Given the description of an element on the screen output the (x, y) to click on. 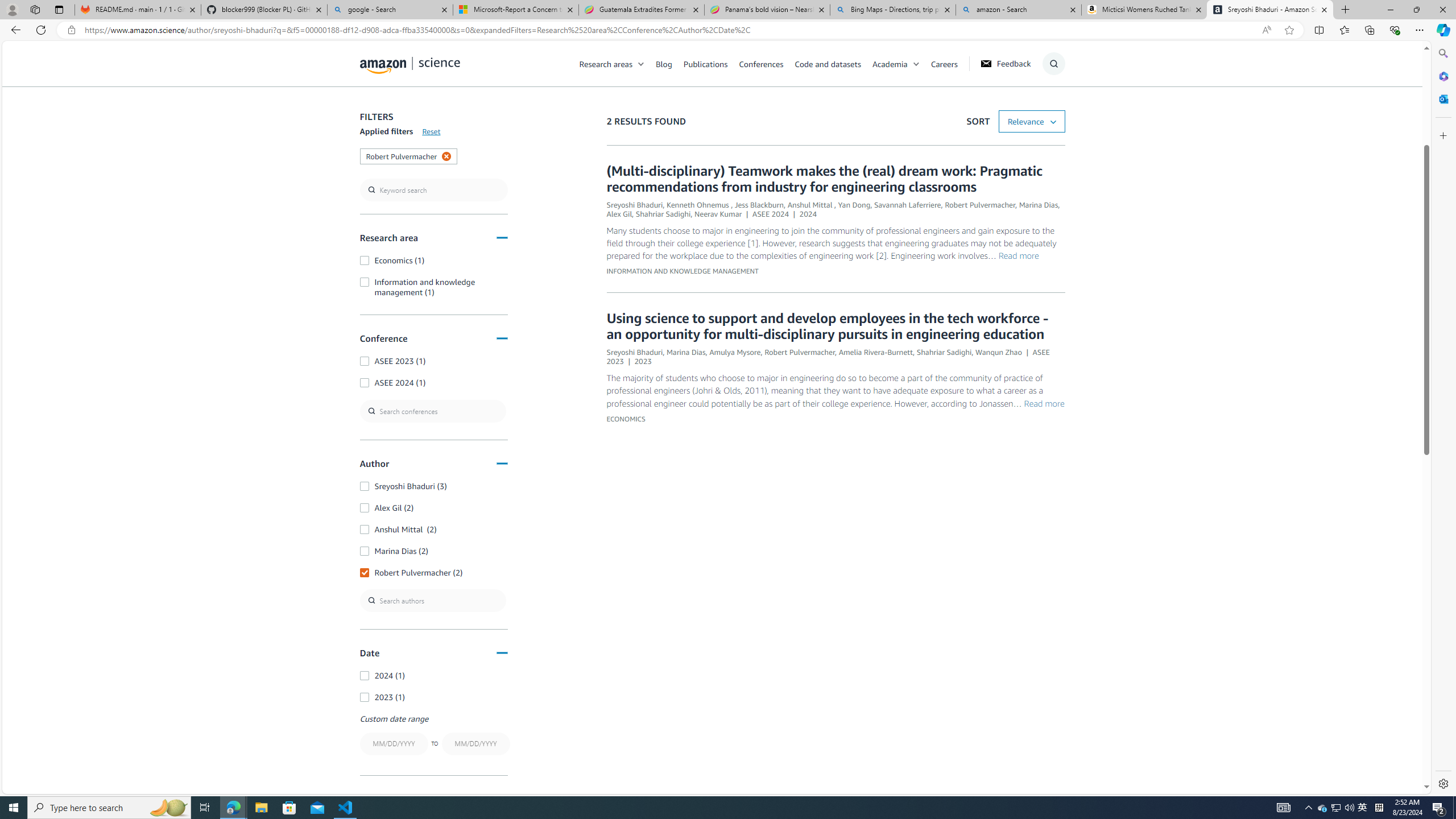
amazon-science-logo.svg (409, 65)
Alex Gil (618, 213)
Careers (944, 63)
Research areas (617, 63)
Research areas (606, 63)
Sreyoshi Bhaduri (633, 352)
